Given the description of an element on the screen output the (x, y) to click on. 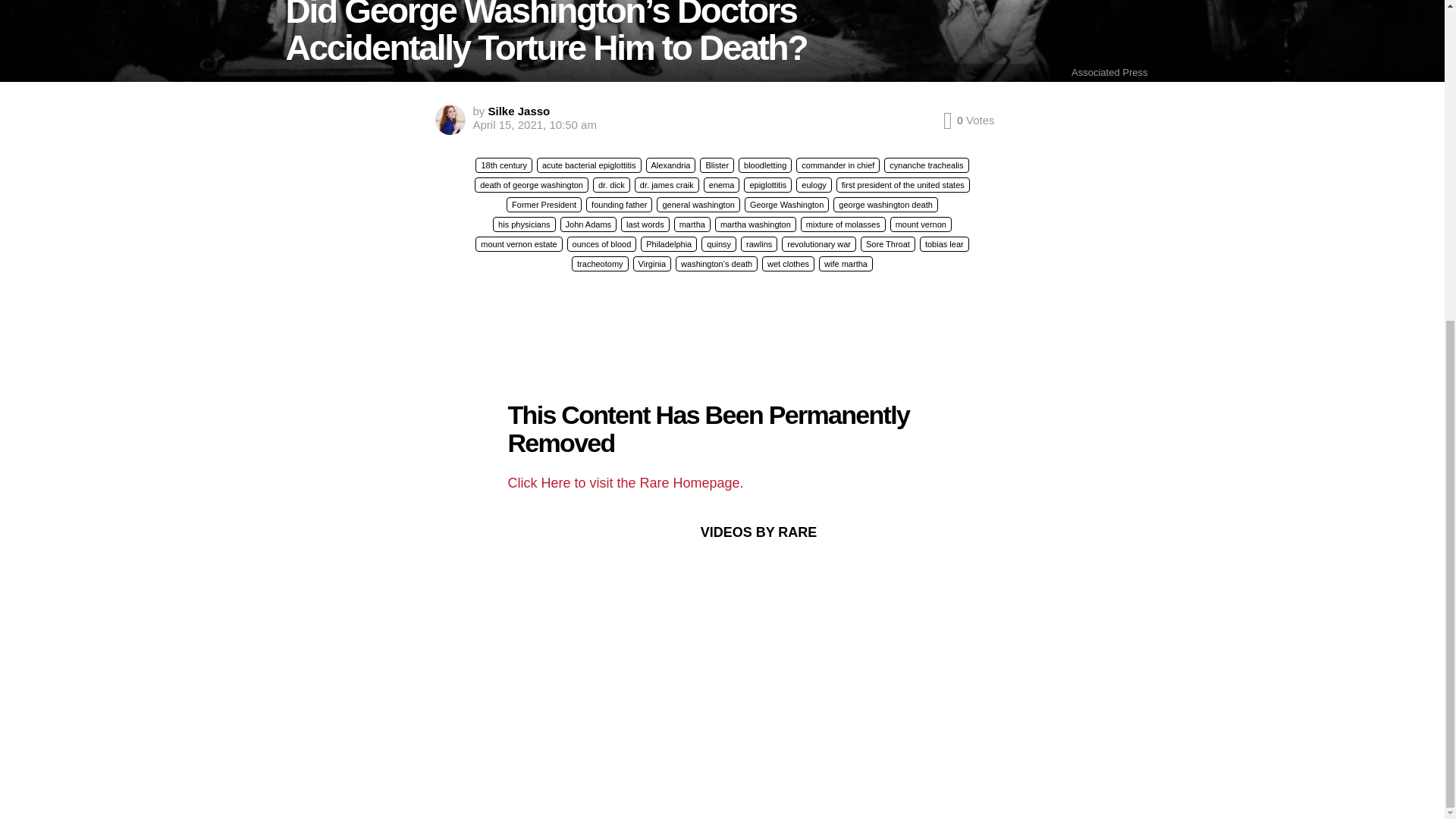
dr. james craik (666, 184)
eulogy (813, 184)
his physicians (523, 224)
epiglottitis (768, 184)
martha (692, 224)
bloodletting (765, 165)
last words (645, 224)
general washington (697, 204)
Former President (543, 204)
John Adams (588, 224)
